Given the description of an element on the screen output the (x, y) to click on. 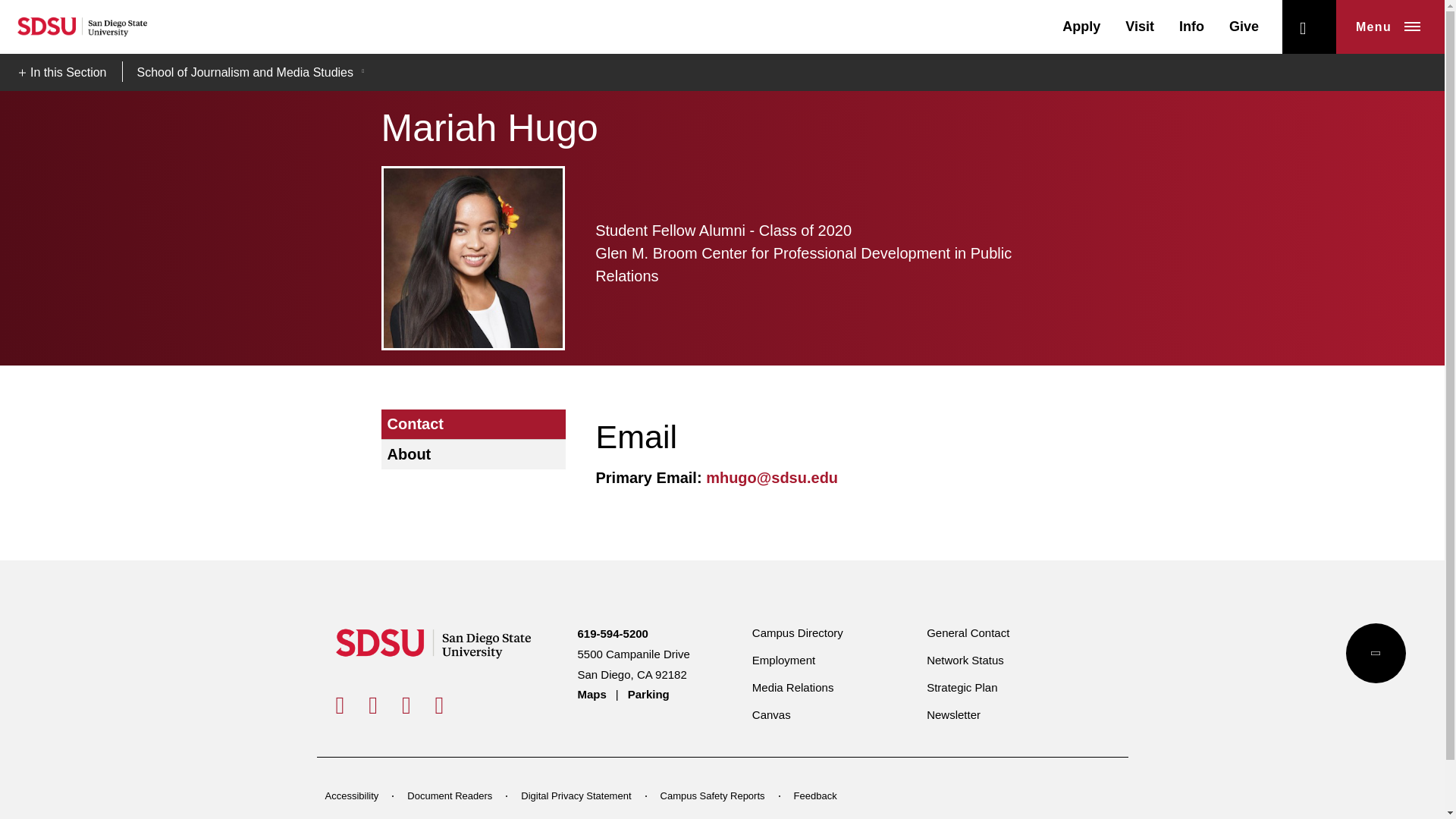
Give (1243, 26)
open (1309, 27)
Visit (1139, 26)
Apply (1081, 26)
Info (1191, 26)
